Given the description of an element on the screen output the (x, y) to click on. 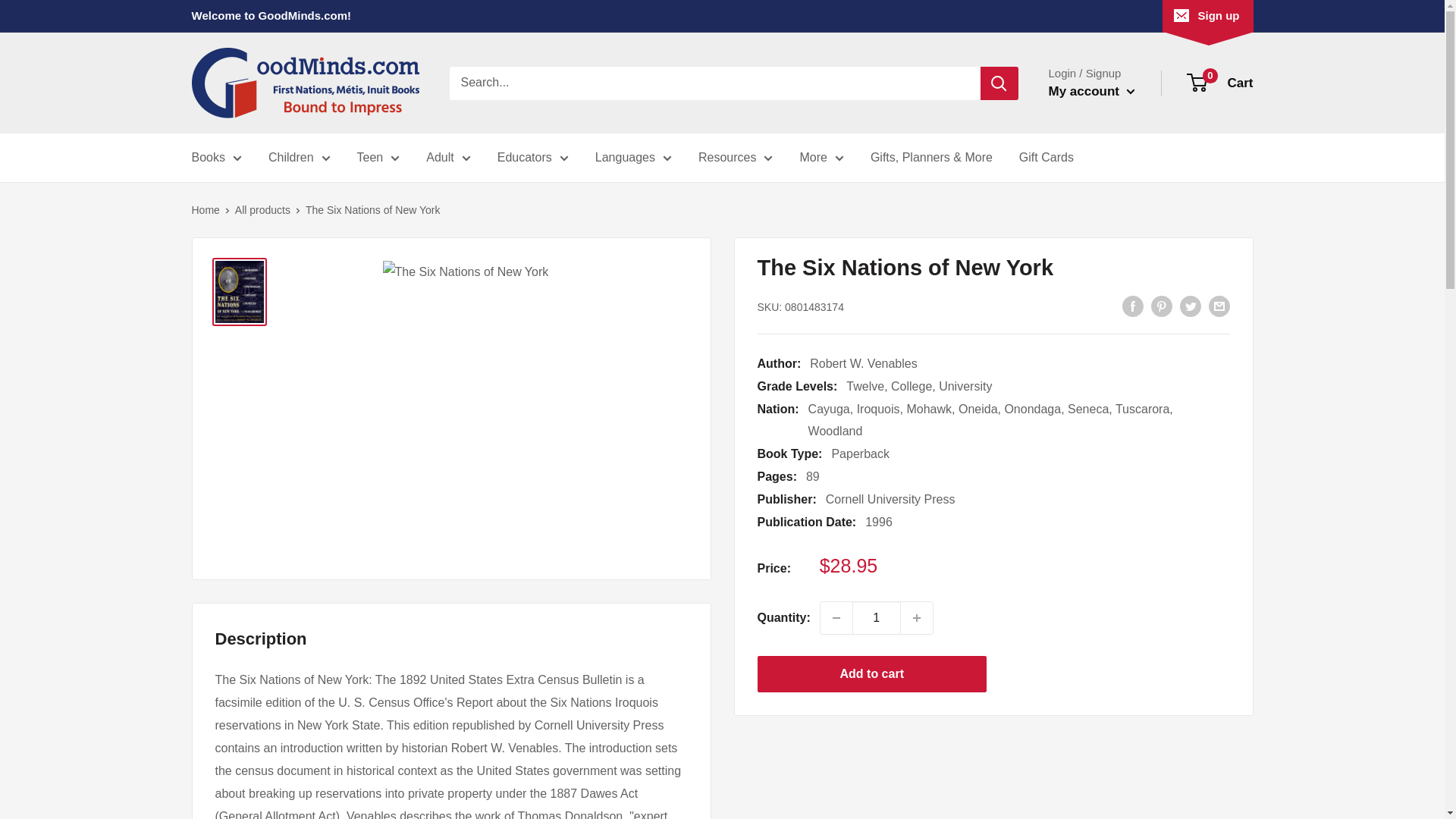
Decrease quantity by 1 (836, 617)
Increase quantity by 1 (917, 617)
Sign up (1206, 15)
1 (876, 617)
